Given the description of an element on the screen output the (x, y) to click on. 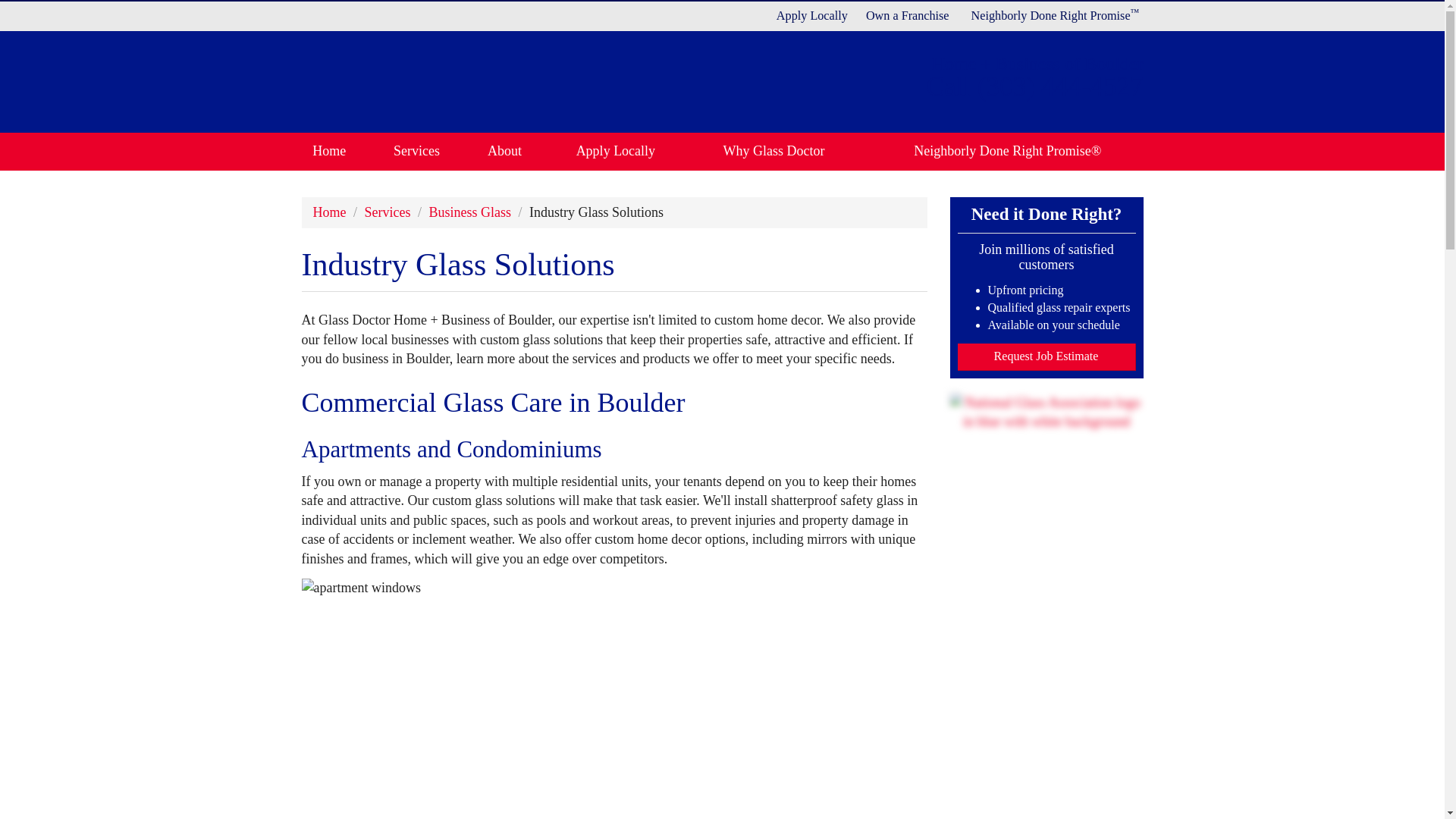
Own a Franchise (907, 15)
Apply Locally (615, 151)
Home (328, 151)
Apply Locally (811, 15)
Why Glass Doctor (773, 151)
Services (416, 151)
About (504, 151)
National Glass Association (1045, 412)
